Given the description of an element on the screen output the (x, y) to click on. 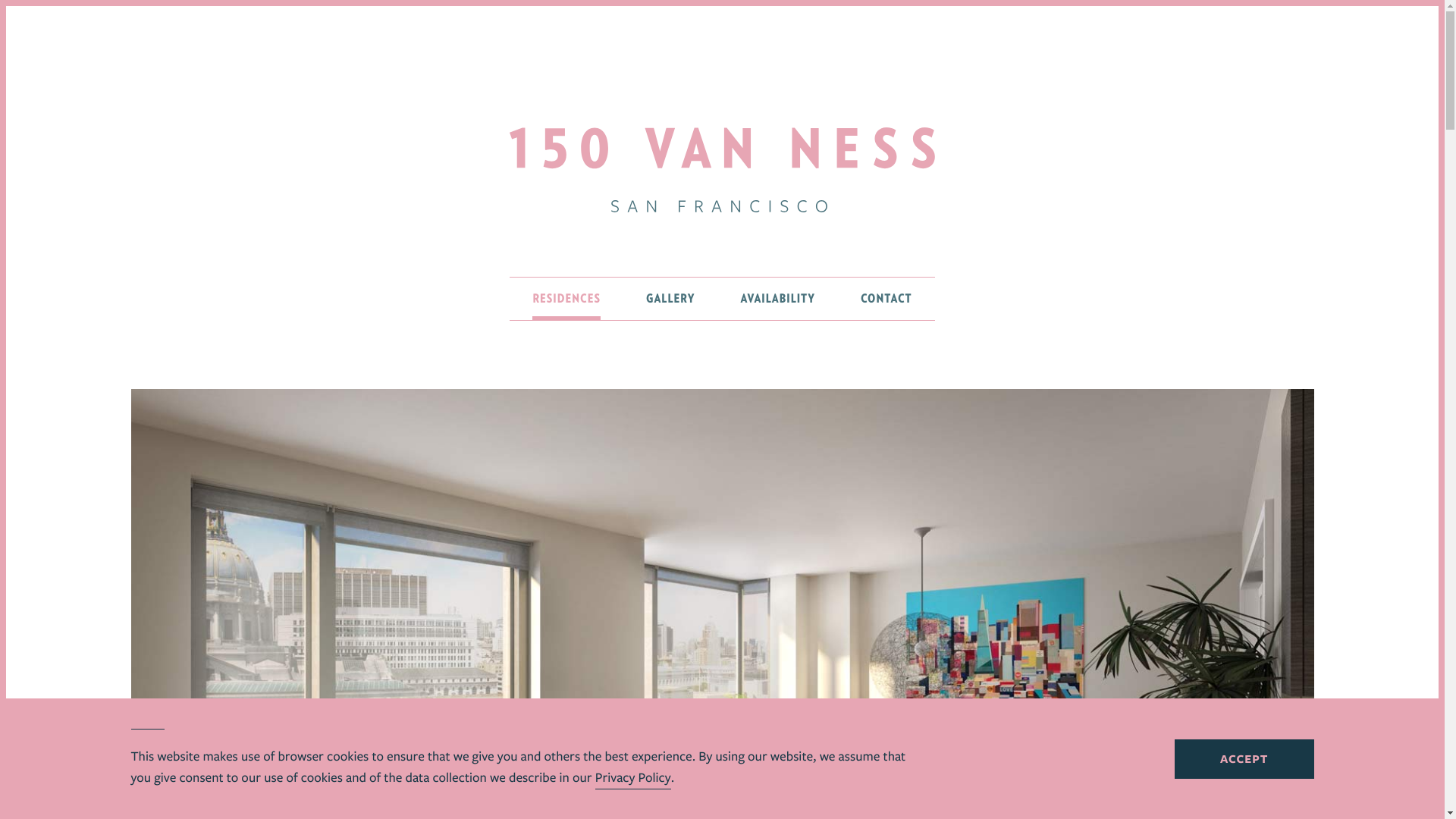
RESIDENCES Element type: text (566, 298)
CONTACT Element type: text (886, 298)
GALLERY Element type: text (670, 298)
AVAILABILITY Element type: text (777, 298)
150 Van Ness Element type: hover (722, 169)
ACCEPT Element type: text (1244, 758)
Privacy Policy Element type: text (633, 777)
